Given the description of an element on the screen output the (x, y) to click on. 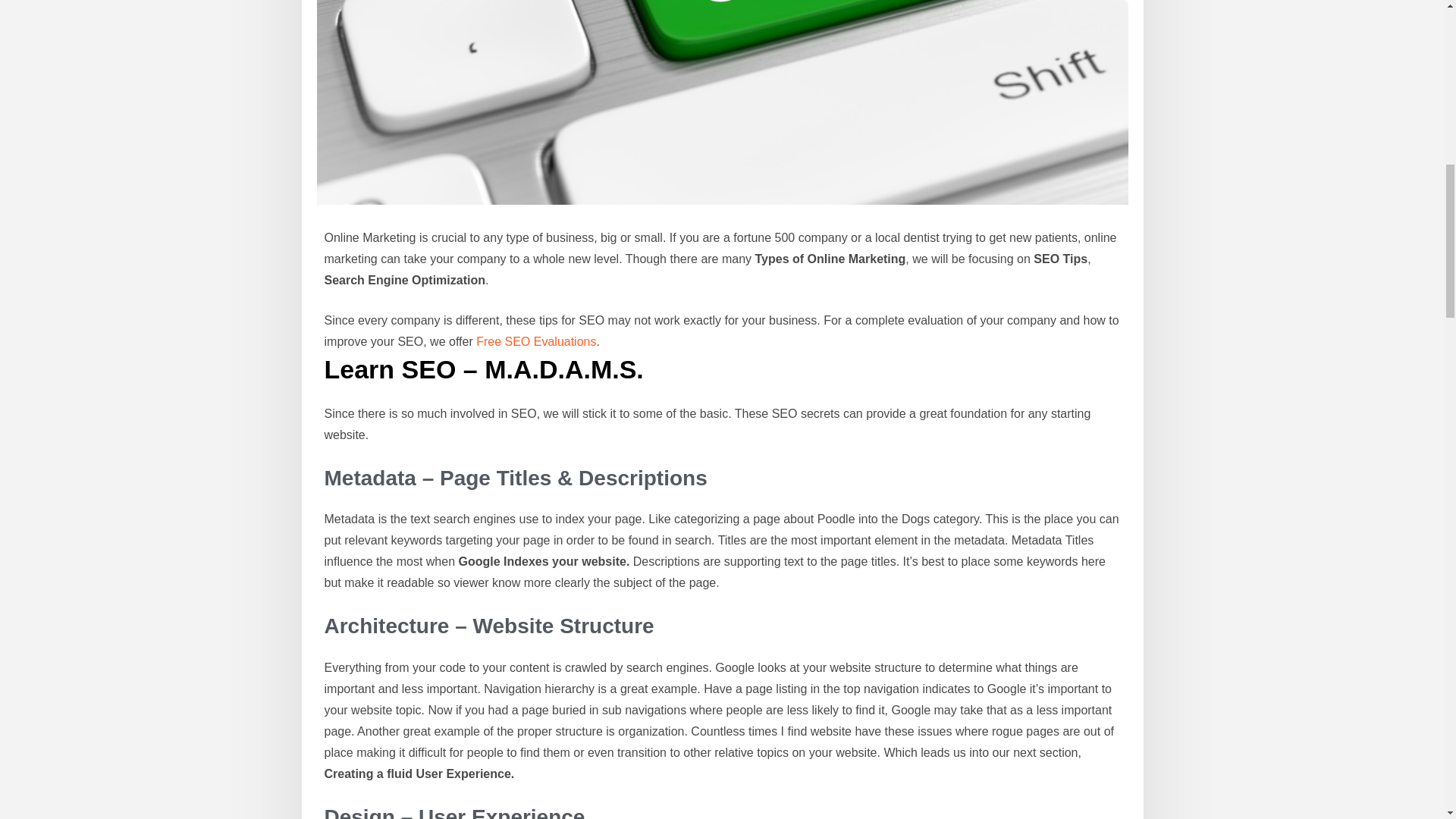
Free SEO Evaluations (535, 341)
